Given the description of an element on the screen output the (x, y) to click on. 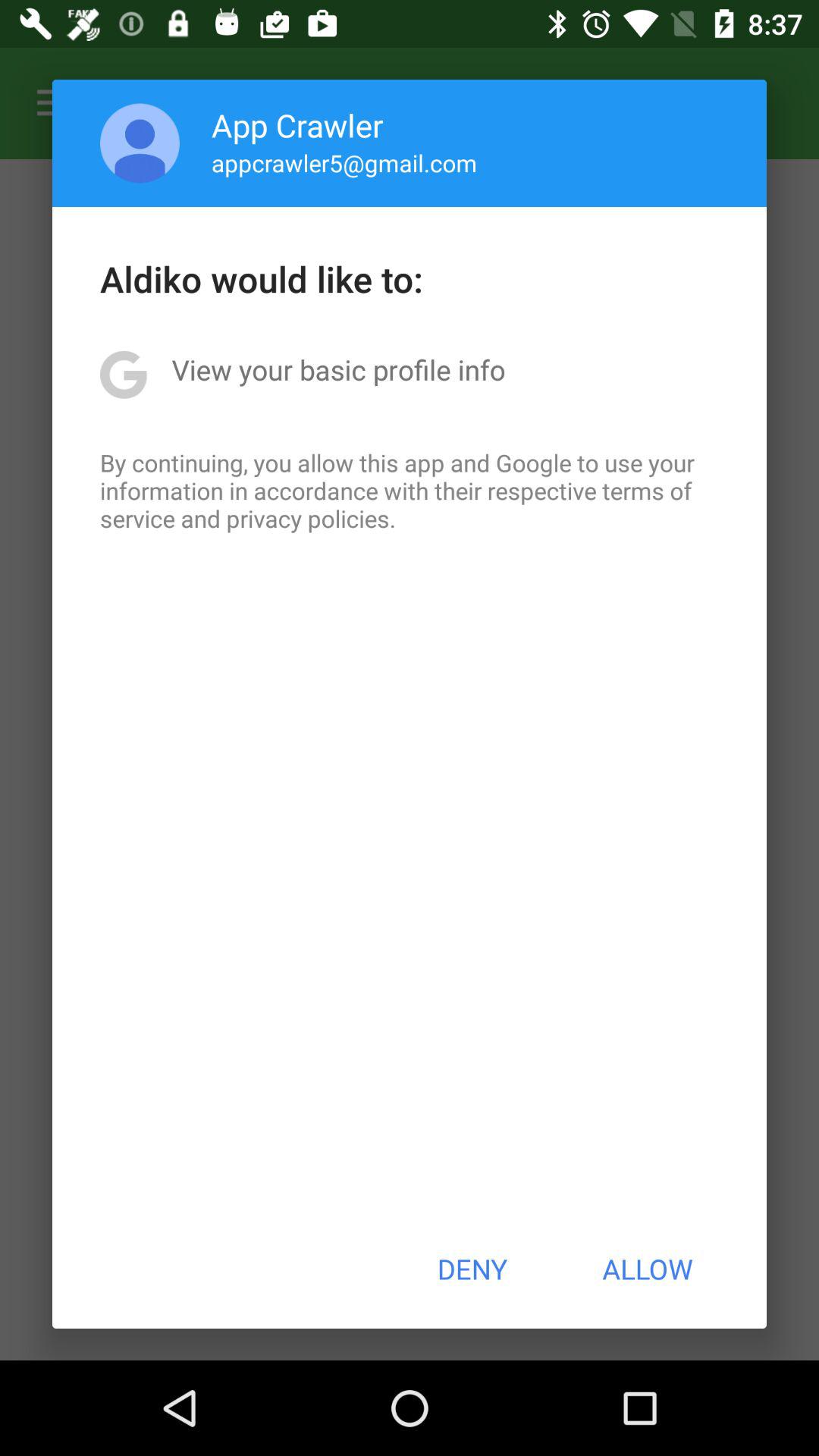
tap item below the by continuing you (471, 1268)
